Given the description of an element on the screen output the (x, y) to click on. 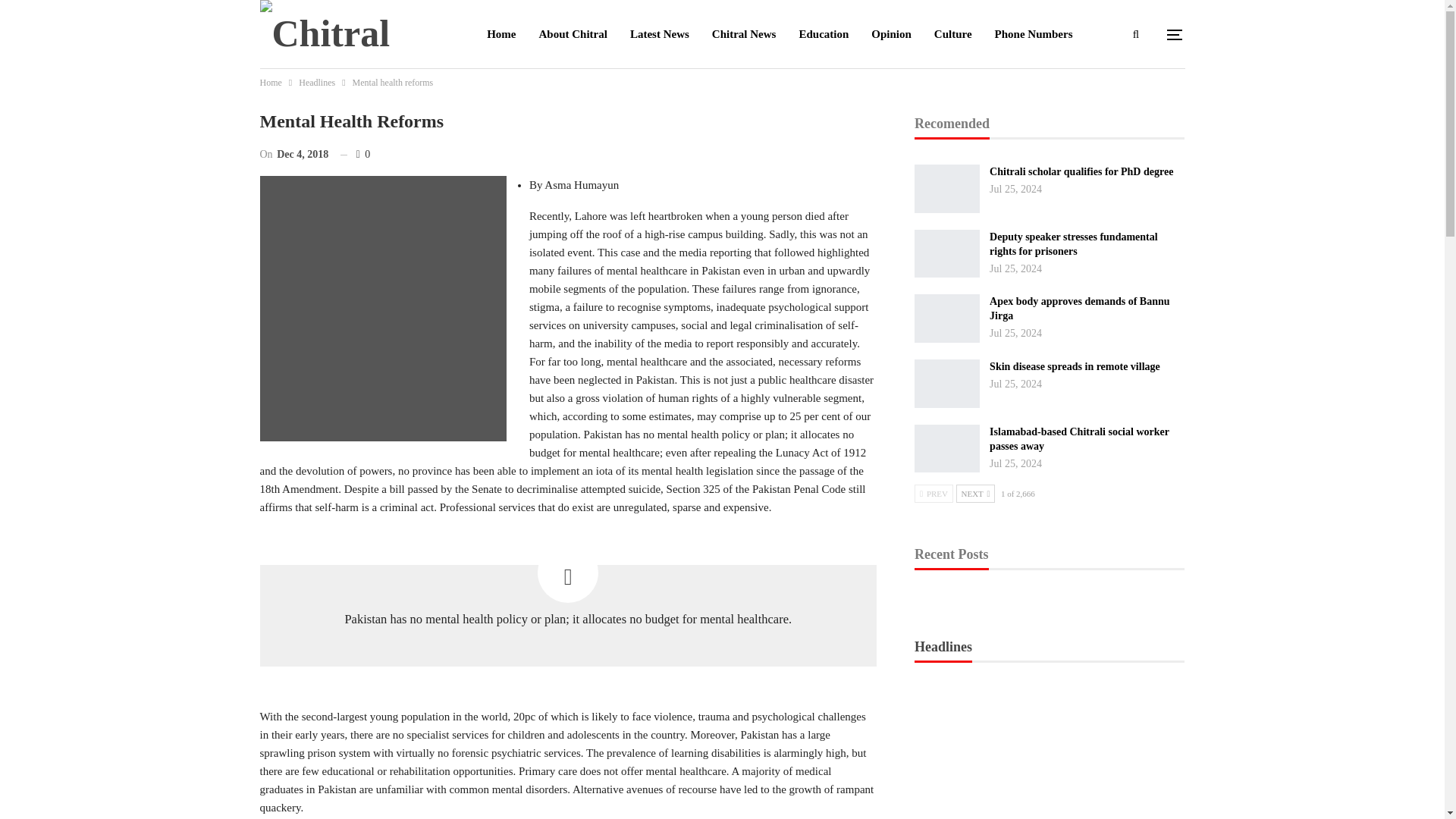
Mental health reforms (382, 308)
National (508, 101)
Headlines (316, 82)
Home (501, 33)
Phone Numbers (1034, 33)
Chitral News (743, 33)
Home (270, 82)
0 (355, 154)
Culture (953, 33)
Opinion (891, 33)
About Chitral (572, 33)
Mission (569, 101)
Education (823, 33)
Latest News (659, 33)
